Given the description of an element on the screen output the (x, y) to click on. 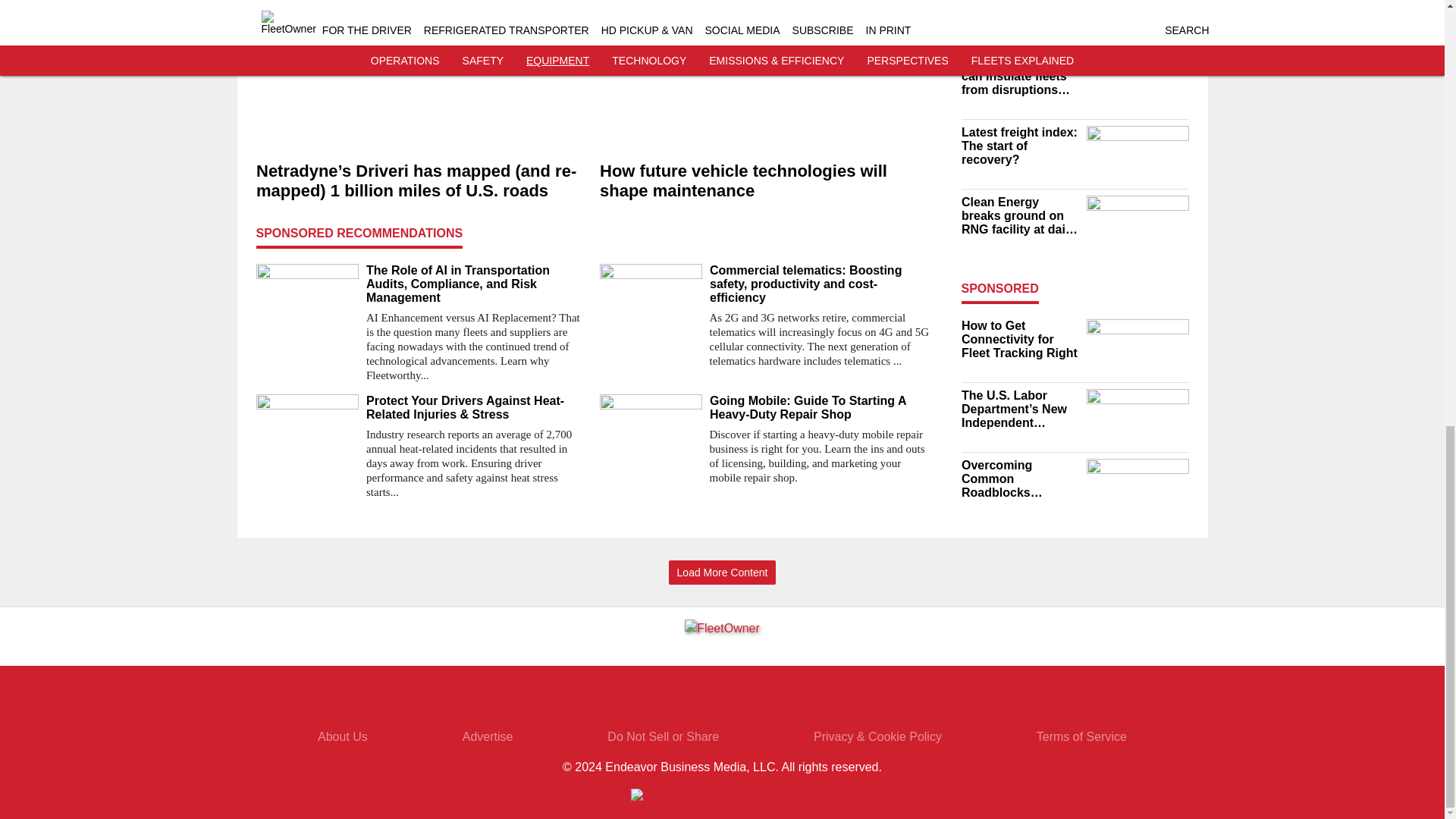
How future vehicle technologies will shape maintenance (764, 180)
Going Mobile: Guide To Starting A Heavy-Duty Repair Shop (820, 407)
